Given the description of an element on the screen output the (x, y) to click on. 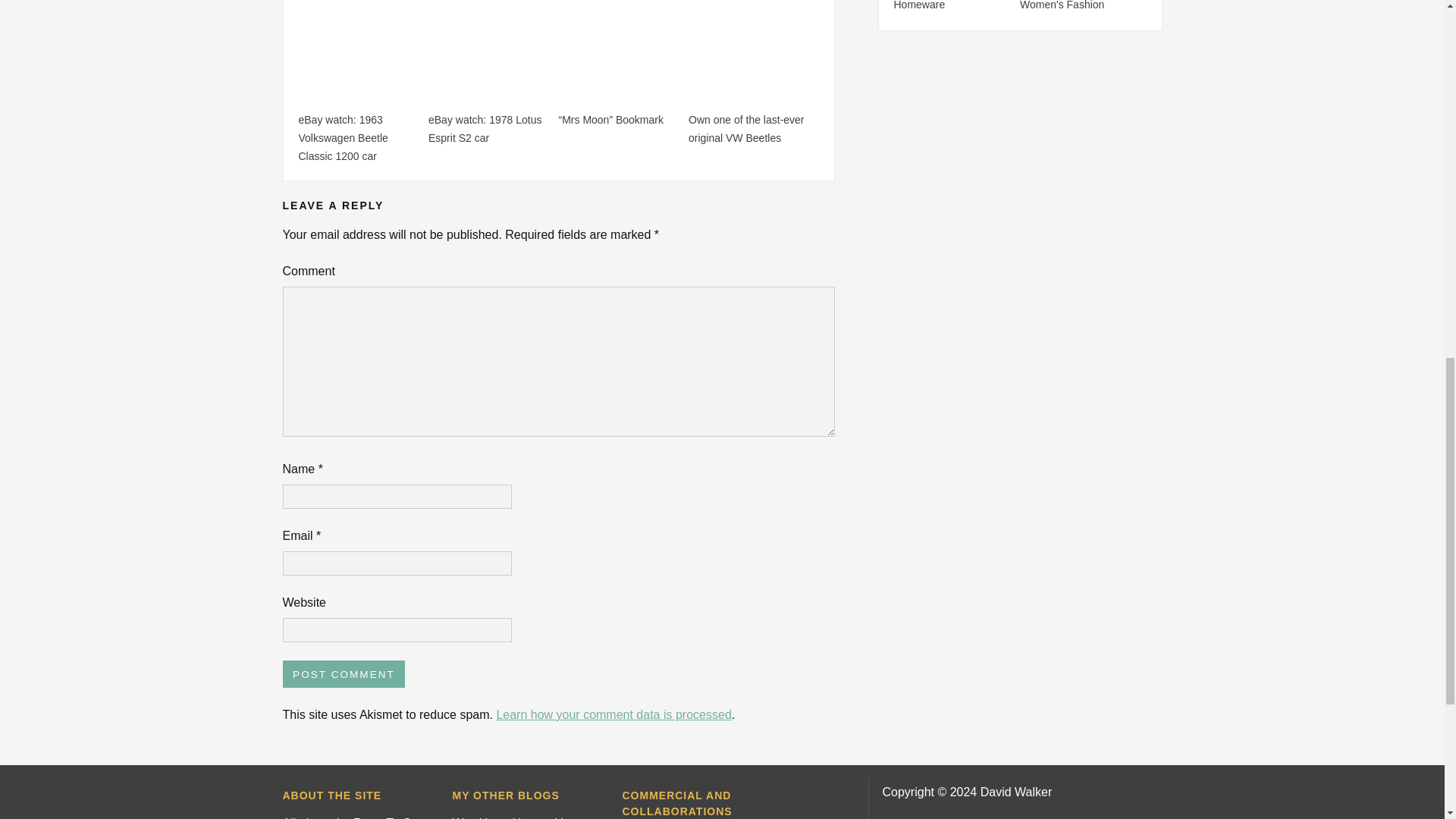
Own one of the last-ever original VW Beetles (746, 128)
Post Comment (343, 673)
eBay watch: 1963 Volkswagen Beetle Classic 1200 car (343, 137)
eBay watch: 1978 Lotus Esprit S2 car (484, 128)
Post Comment (343, 673)
